Given the description of an element on the screen output the (x, y) to click on. 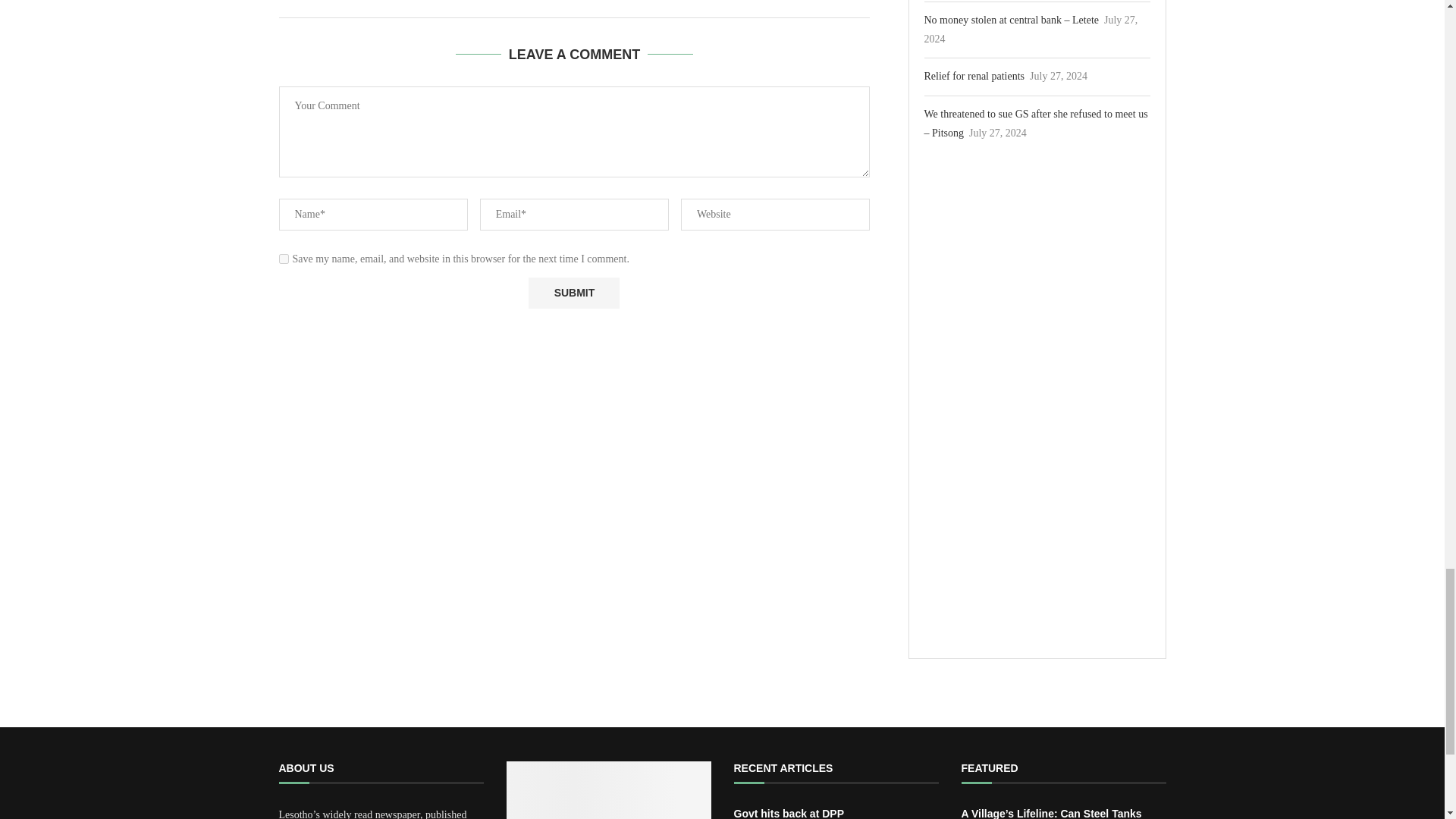
yes (283, 258)
Submit (574, 292)
